Given the description of an element on the screen output the (x, y) to click on. 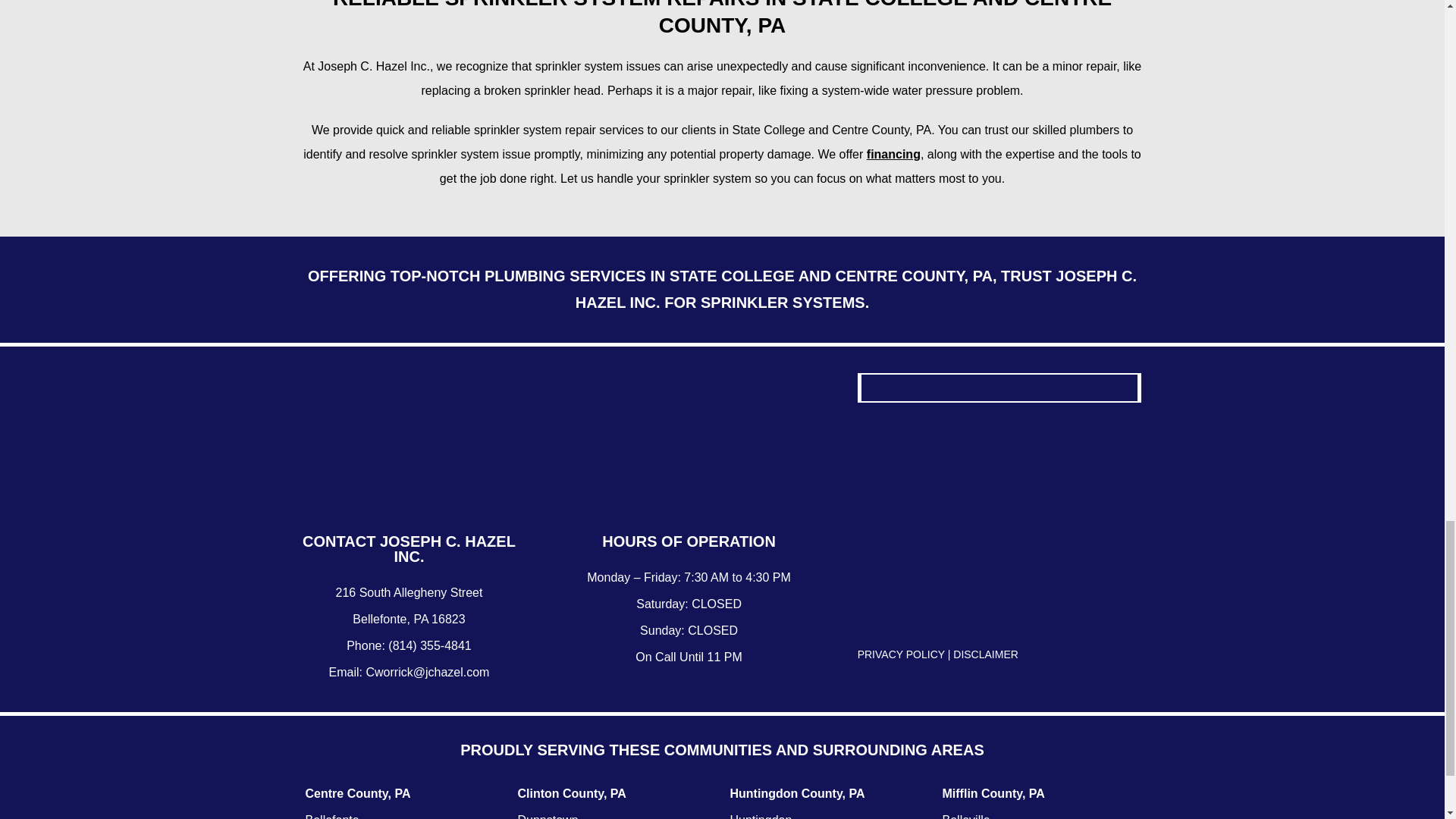
216 Allegheny St., Bellefonte, PA 16823 (999, 521)
